Given the description of an element on the screen output the (x, y) to click on. 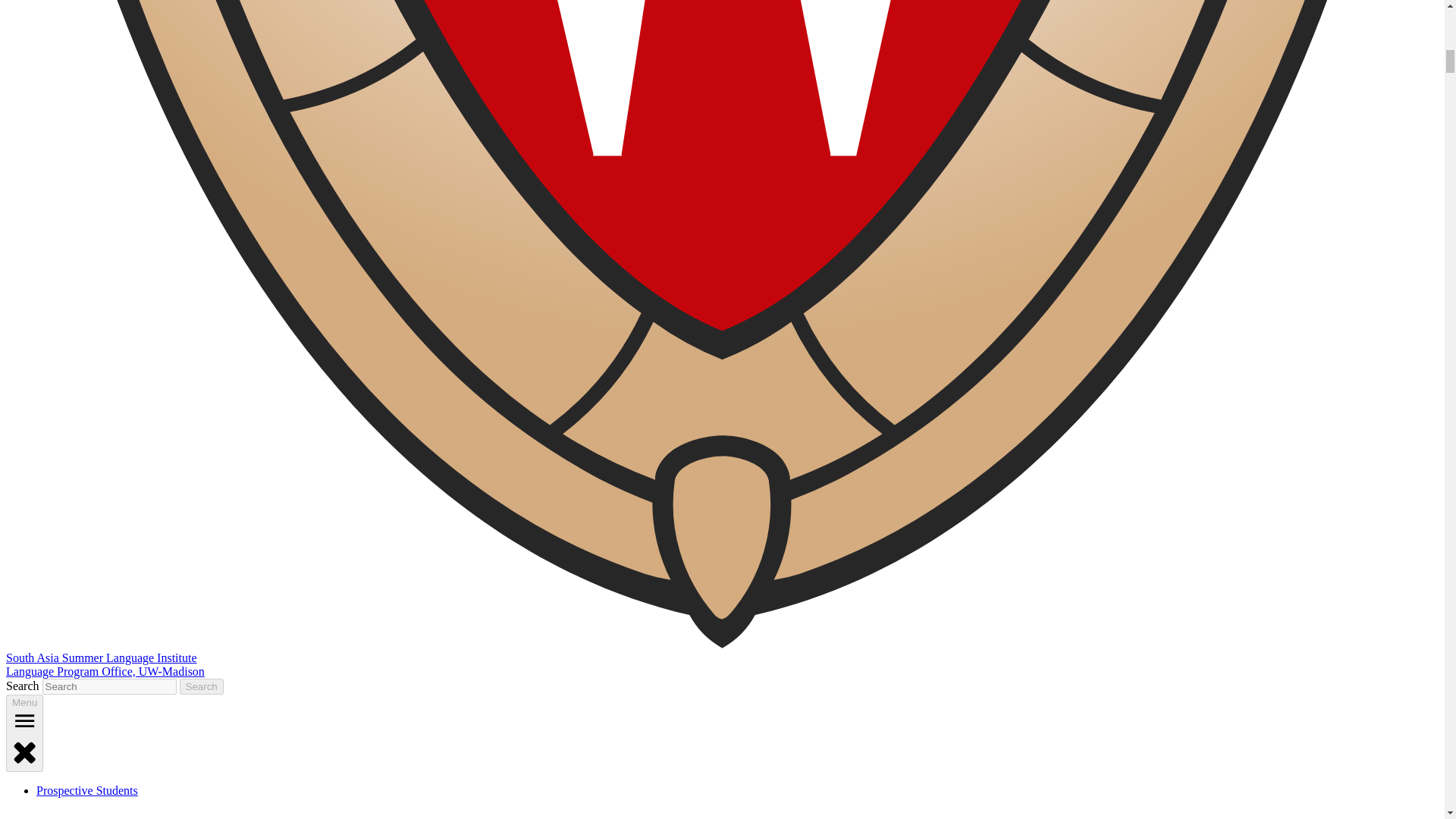
Search (201, 686)
Search (201, 686)
open menu (24, 720)
Language Program Office, UW-Madison (105, 671)
South Asia Summer Language Institute (100, 657)
Search (201, 686)
